Given the description of an element on the screen output the (x, y) to click on. 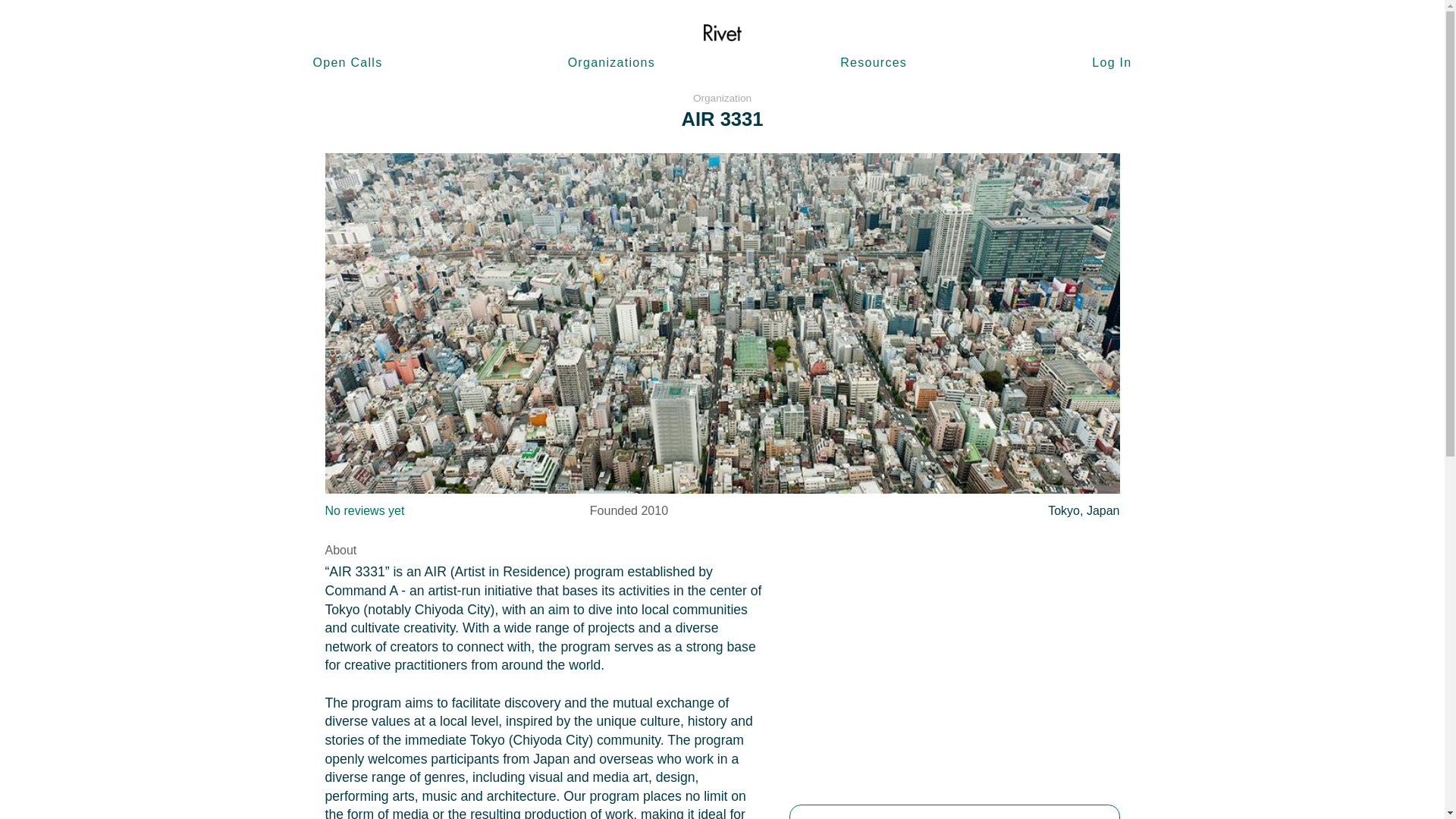
Resources (873, 62)
Open Calls (347, 62)
Follow (954, 811)
Log In (1111, 62)
Organizations (611, 62)
